Given the description of an element on the screen output the (x, y) to click on. 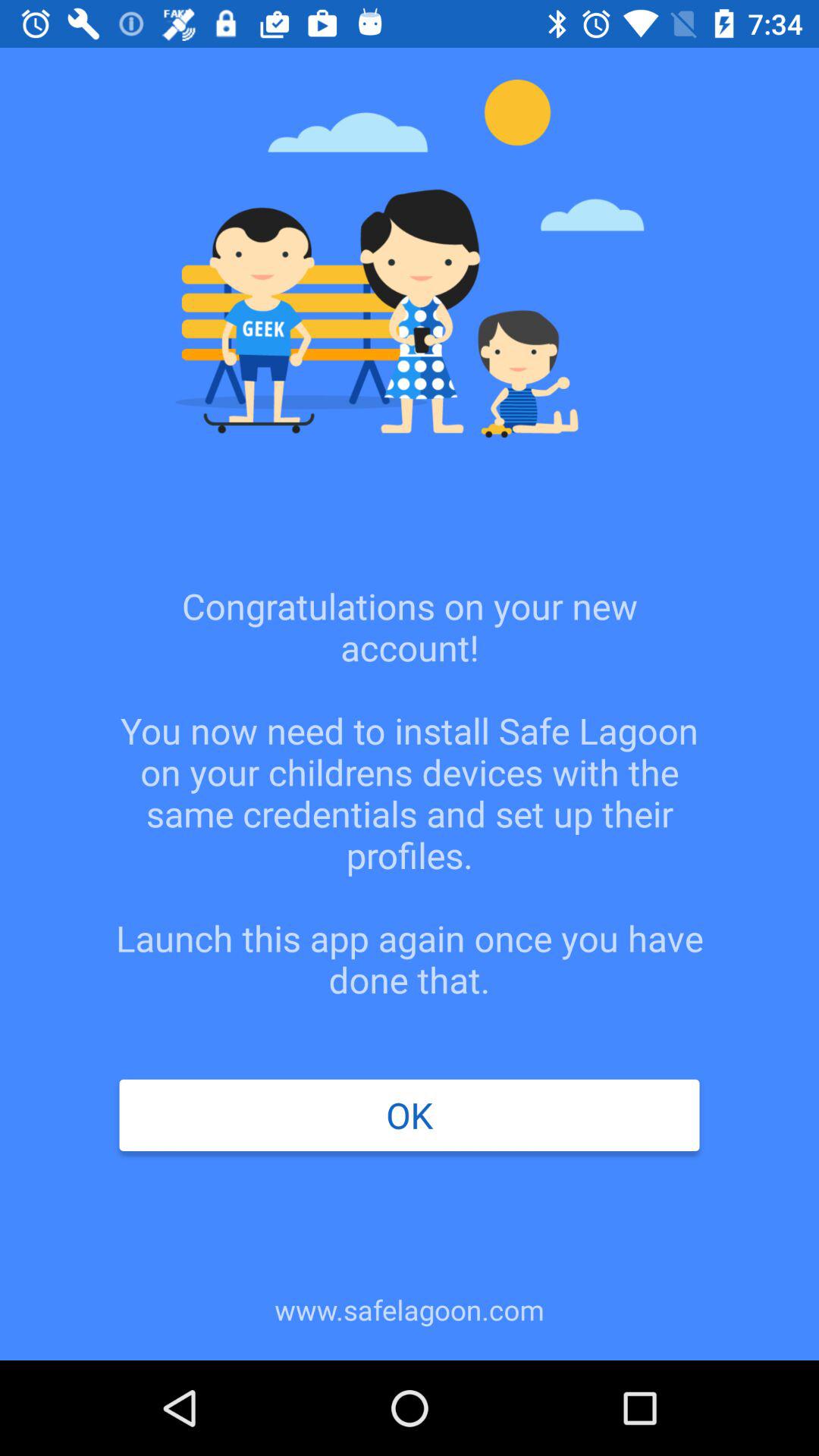
press ok (409, 1115)
